Given the description of an element on the screen output the (x, y) to click on. 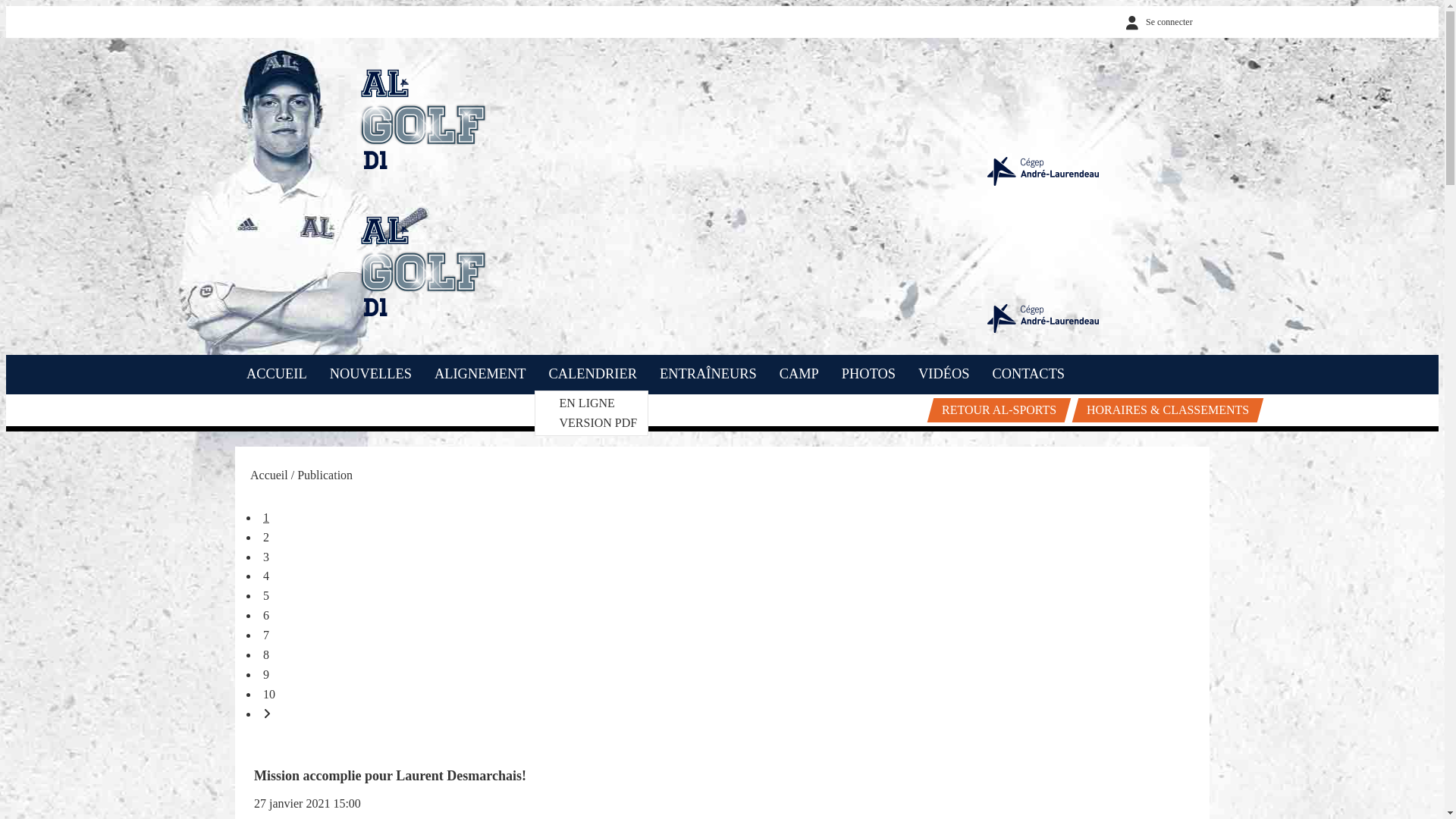
PHOTOS Element type: text (868, 374)
CONTACTS Element type: text (1028, 374)
EN LIGNE Element type: text (587, 402)
ACCUEIL Element type: text (276, 374)
HORAIRES & CLASSEMENTS Element type: text (1164, 410)
2 Element type: text (266, 536)
7 Element type: text (266, 634)
4 Element type: text (266, 575)
ALIGNEMENT Element type: text (480, 374)
CALENDRIER Element type: text (592, 374)
NOUVELLES Element type: text (370, 374)
Accueil Element type: text (269, 474)
9 Element type: text (266, 674)
5 Element type: text (266, 595)
1 Element type: text (266, 517)
VERSION PDF Element type: text (598, 422)
10 Element type: text (269, 693)
3 Element type: text (266, 556)
RETOUR AL-SPORTS Element type: text (995, 410)
Mission accomplie pour Laurent Desmarchais! Element type: text (390, 775)
CAMP Element type: text (799, 374)
Se connecter Element type: text (1155, 21)
8 Element type: text (266, 654)
6 Element type: text (266, 614)
